Given the description of an element on the screen output the (x, y) to click on. 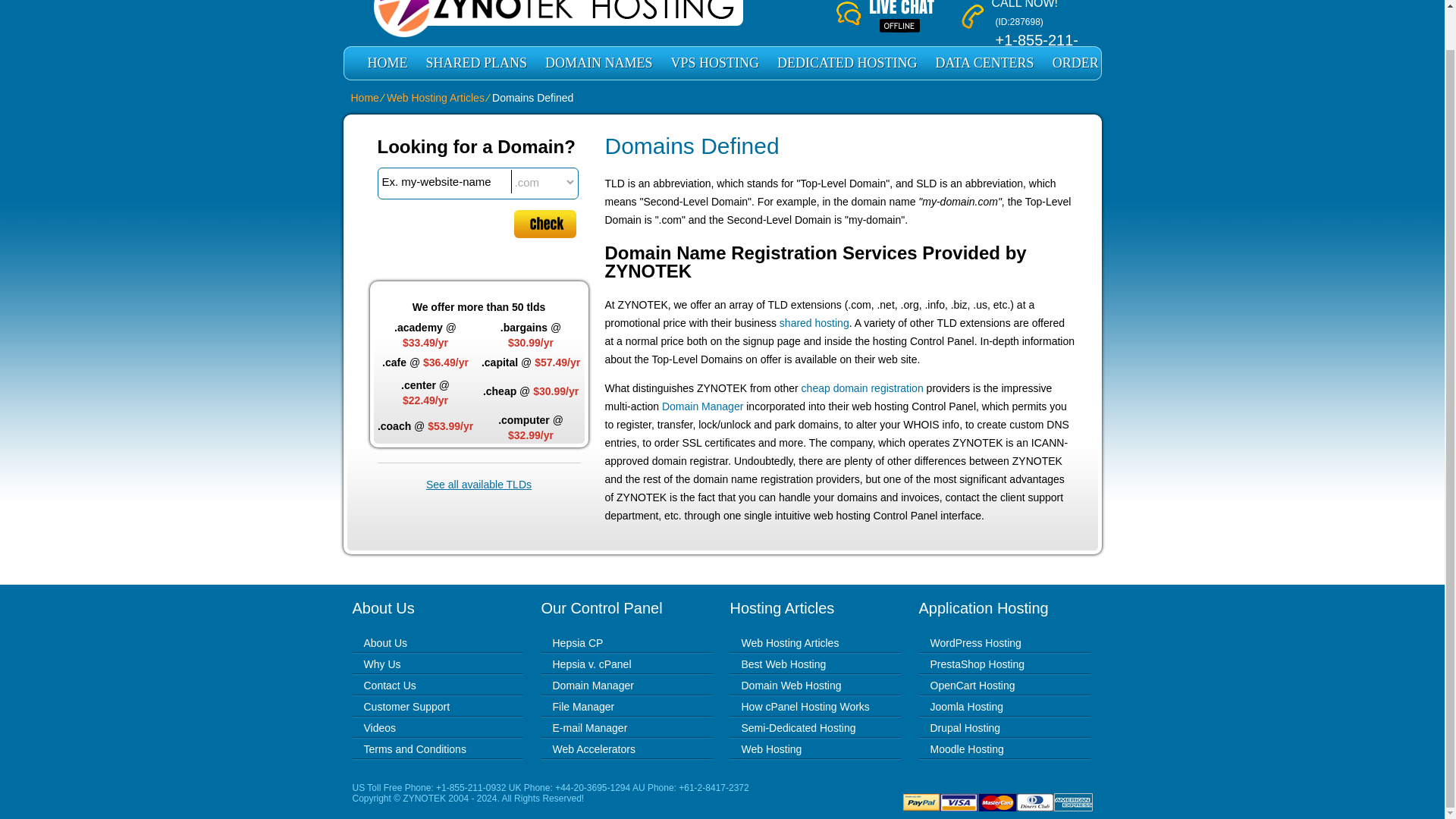
Why Us (382, 664)
HOME (387, 62)
Ex. my-website-name (444, 181)
Home (364, 97)
shared hosting (813, 322)
VPS HOSTING (715, 62)
Web Hosting Articles (435, 97)
About Us (385, 643)
text (444, 181)
Customer Support (406, 706)
ORDER (1075, 62)
DATA CENTERS (984, 62)
See all available TLDs (478, 484)
Videos (380, 727)
SHARED PLANS (476, 62)
